Given the description of an element on the screen output the (x, y) to click on. 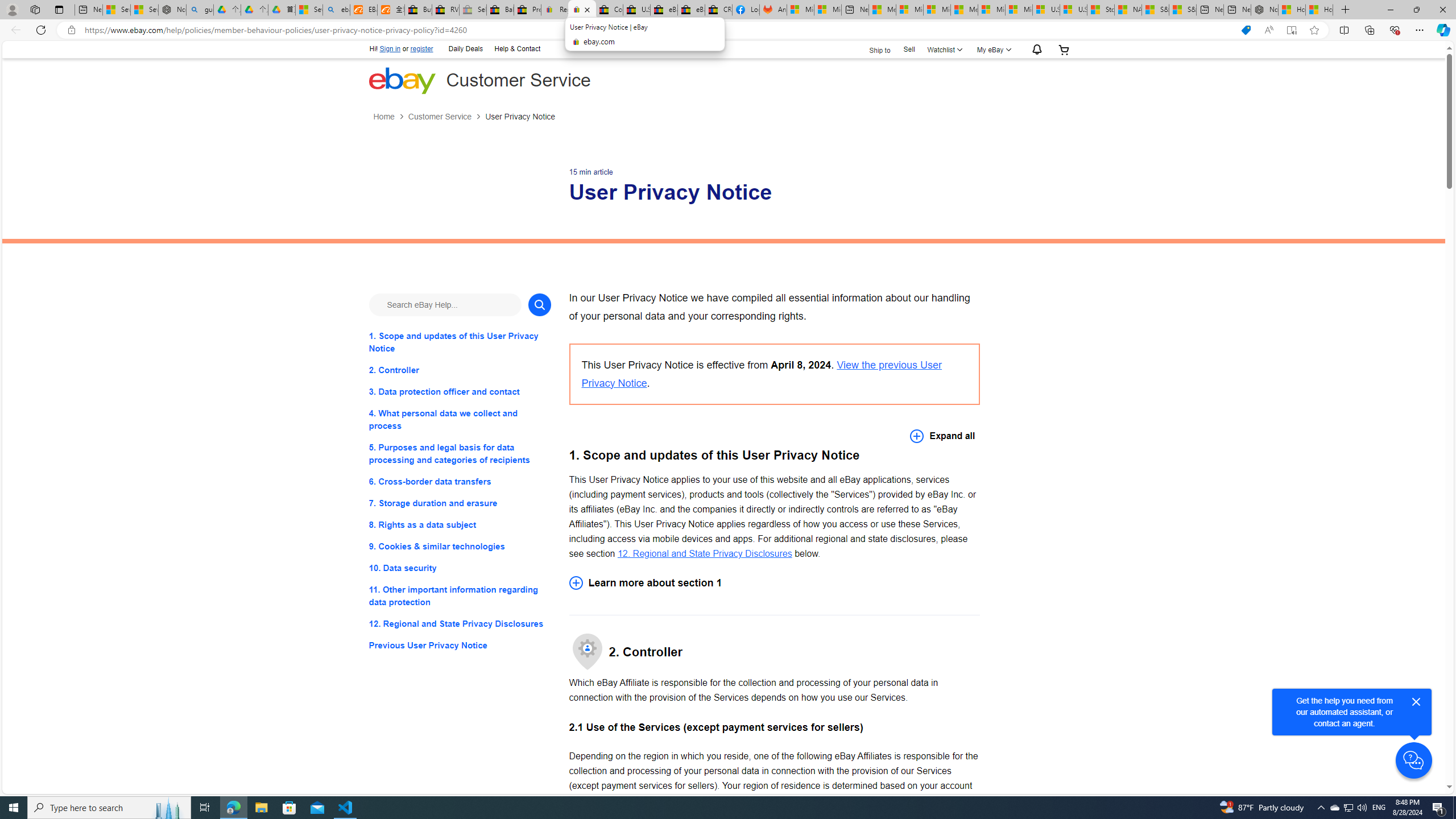
2. Controller (459, 369)
Your shopping cart (1064, 49)
Sell (908, 49)
3. Data protection officer and contact (459, 391)
Log into Facebook (746, 9)
View the previous User Privacy Notice (761, 373)
9. Cookies & similar technologies (459, 546)
Press Room - eBay Inc. (527, 9)
3. Data protection officer and contact (459, 391)
11. Other important information regarding data protection (459, 596)
